Given the description of an element on the screen output the (x, y) to click on. 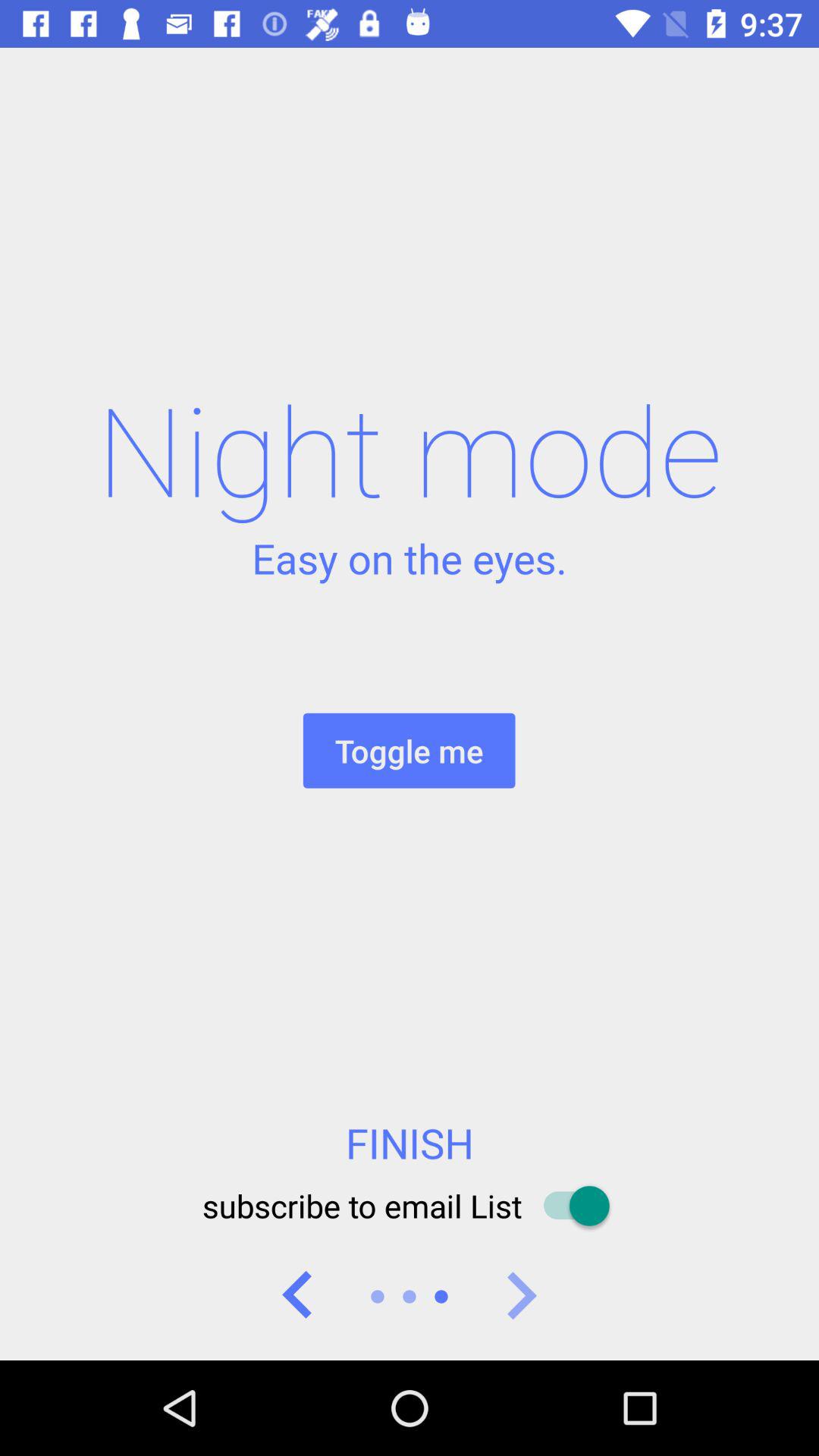
go to next (520, 1296)
